Given the description of an element on the screen output the (x, y) to click on. 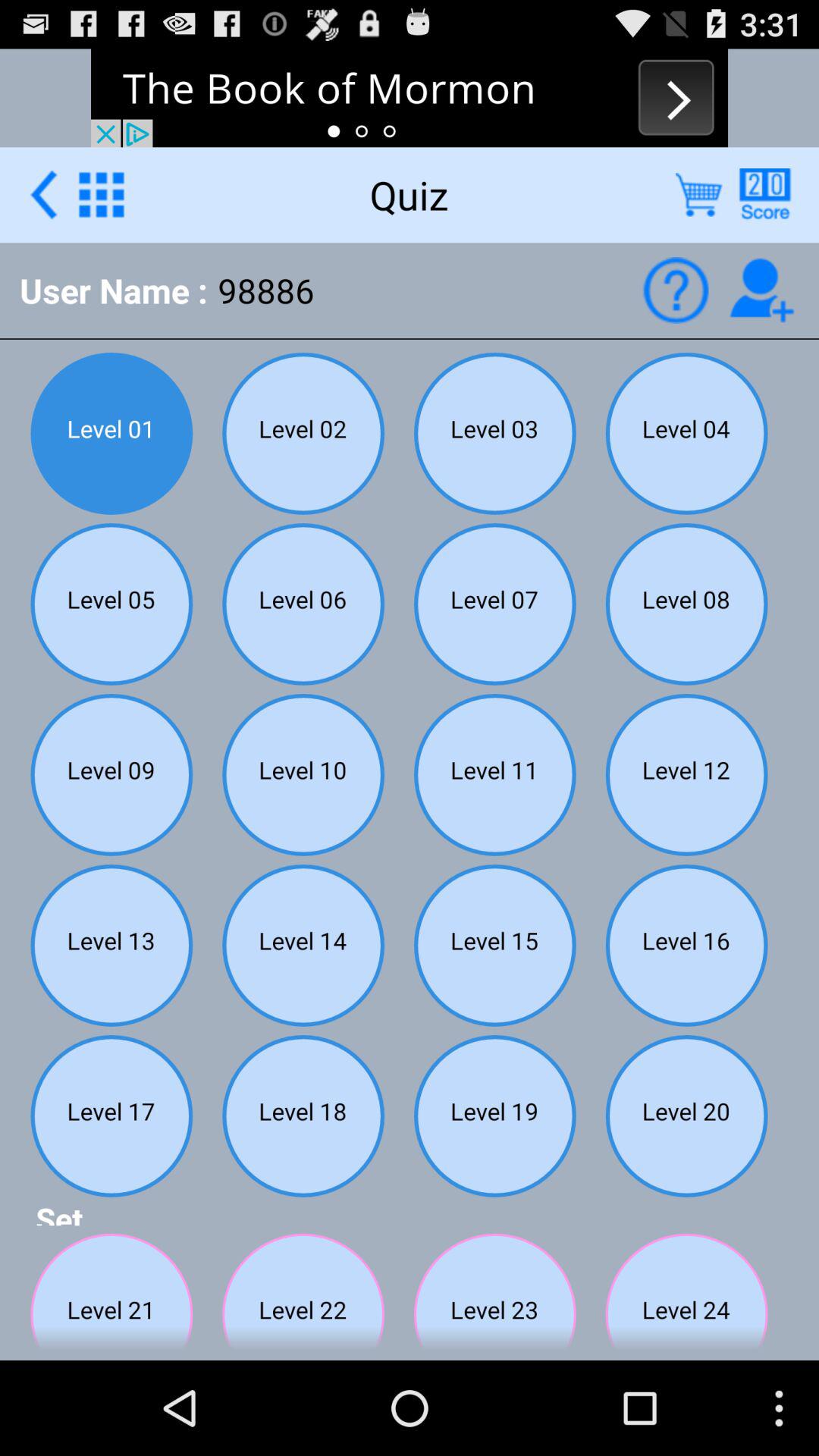
go to previous (43, 194)
